Given the description of an element on the screen output the (x, y) to click on. 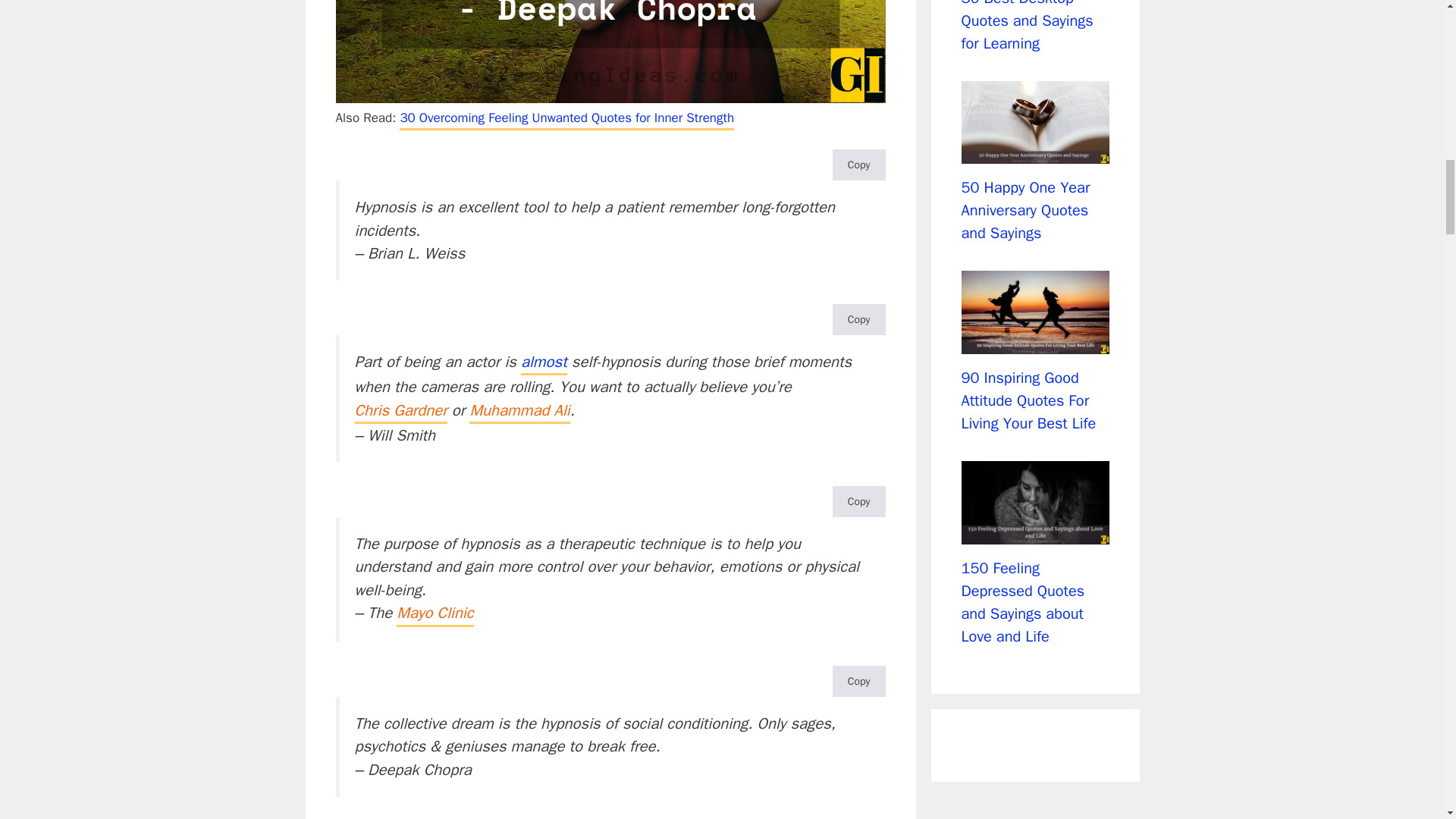
Chris Gardner (400, 411)
Copy (858, 680)
Copy to Clipboard (858, 680)
Copy (858, 318)
Muhammad Ali (518, 411)
Copy to Clipboard (858, 501)
Copy to Clipboard (858, 164)
Mayo Clinic (434, 614)
Chris Gardner (400, 411)
almost (544, 362)
Copy (858, 164)
30 Overcoming Feeling Unwanted Quotes for Inner Strength (565, 119)
Muhammad Ali (518, 411)
Copy (858, 501)
Hypnosis Quotes Greeting Ideas 1 (609, 51)
